Given the description of an element on the screen output the (x, y) to click on. 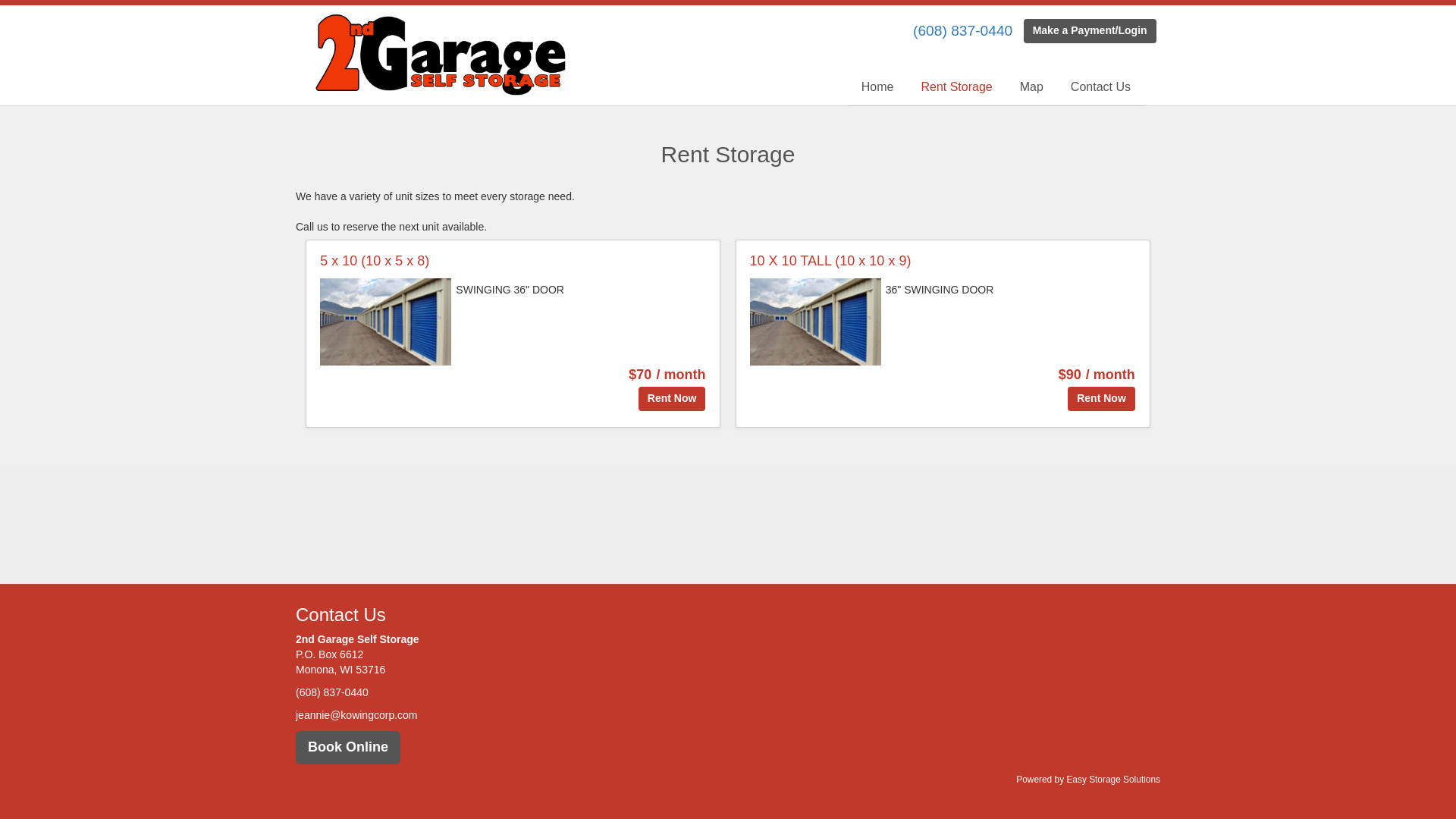
(608) 837-0440 Element type: text (962, 30)
Rent Now Element type: text (672, 398)
jeannie@kowingcorp.com Element type: text (356, 715)
Map Element type: text (1031, 87)
Make a Payment/Login Element type: text (1089, 30)
Contact Us Element type: text (1100, 87)
(608) 837-0440 Element type: text (331, 692)
Easy Storage Solutions Element type: text (1113, 779)
Rent Storage Element type: text (955, 87)
Home Element type: text (877, 87)
Book Online Element type: text (347, 747)
Rent Now Element type: text (1101, 398)
